Given the description of an element on the screen output the (x, y) to click on. 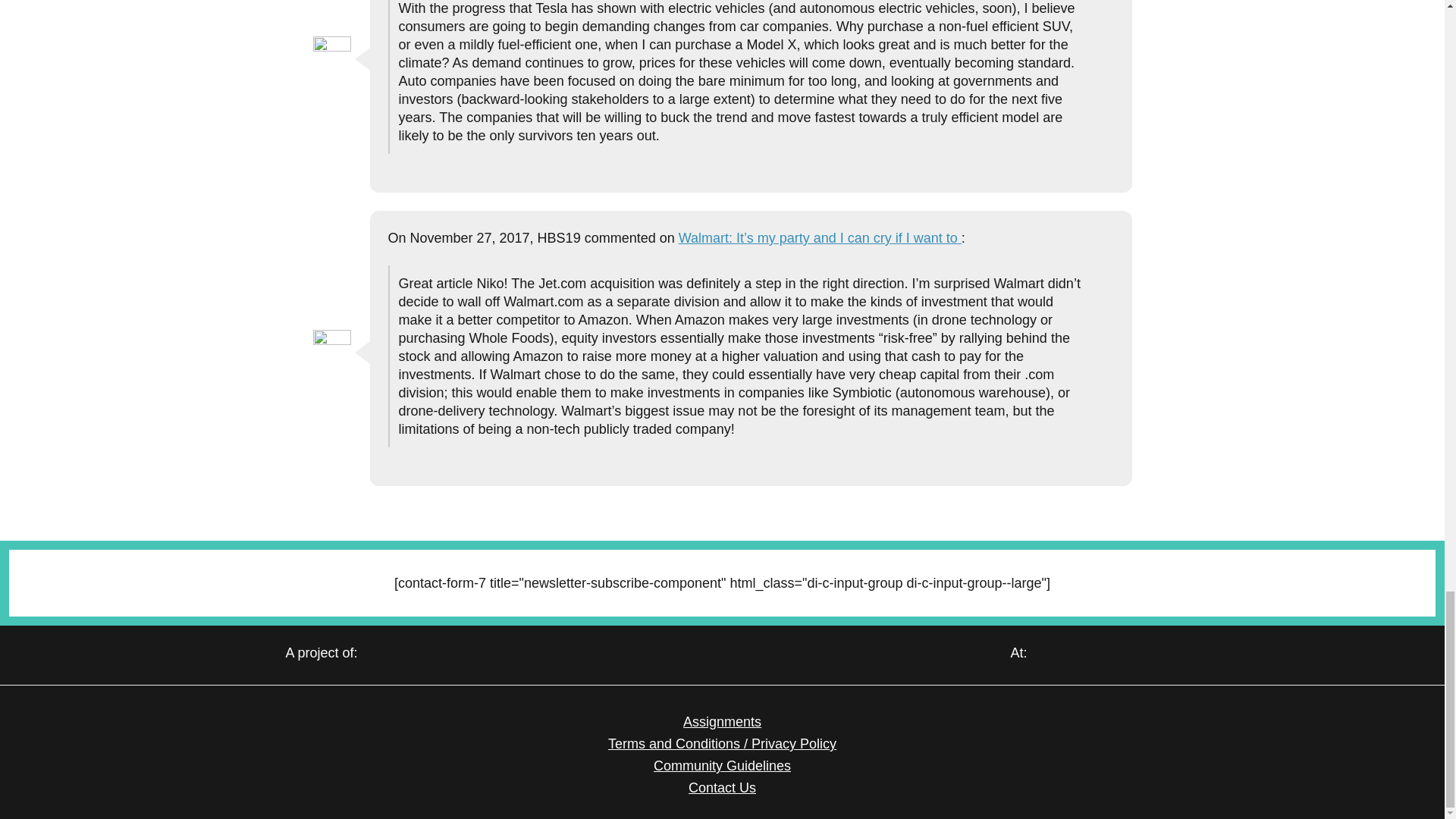
Community Guidelines (721, 765)
Assignments (721, 721)
Contact Us (721, 787)
